Given the description of an element on the screen output the (x, y) to click on. 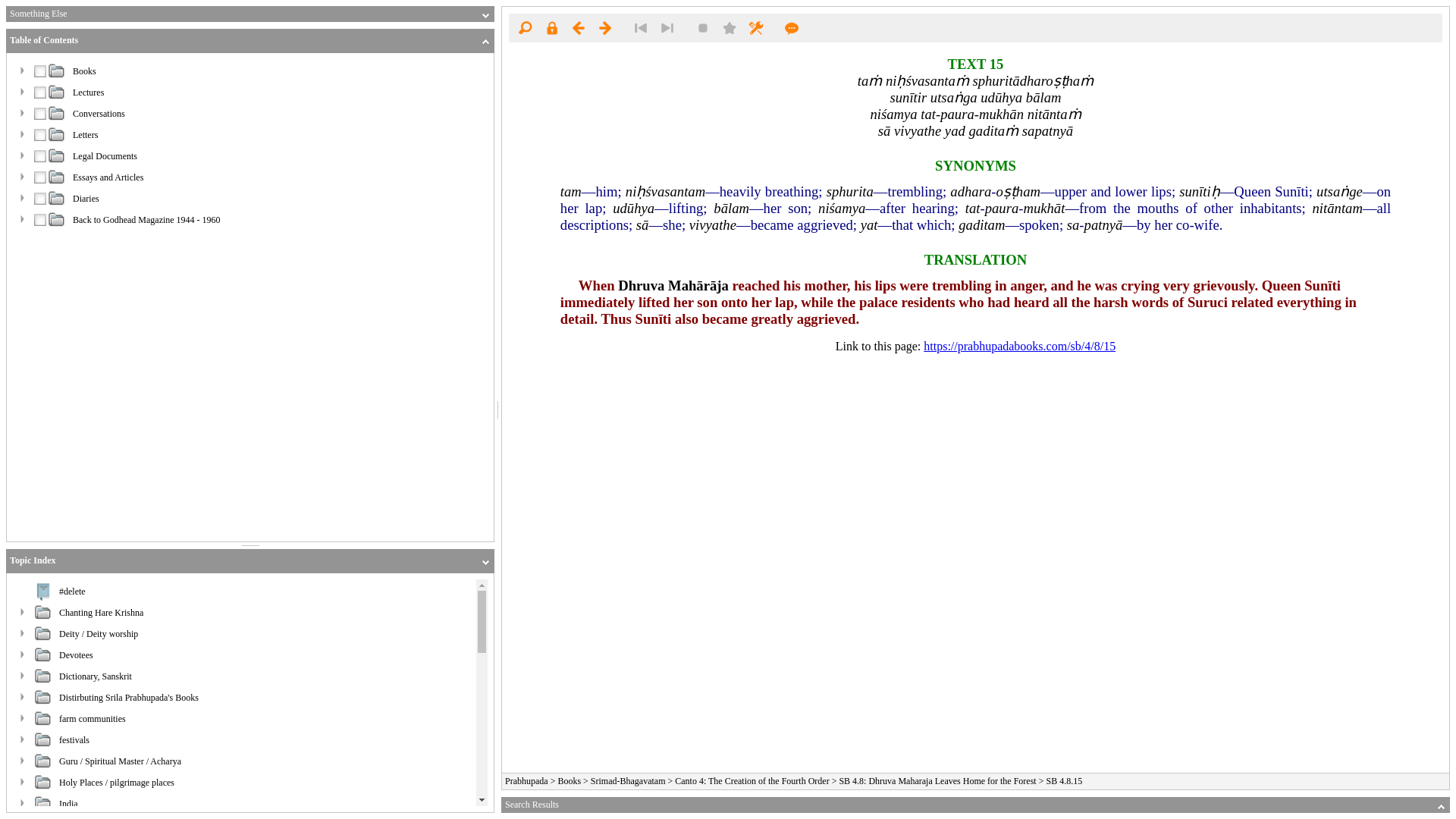
Login (551, 27)
Previous Search Hit (640, 27)
Next Search Hit (666, 27)
Next Document (604, 27)
Highlight Text (703, 27)
Previous Document (578, 27)
Bookmark (729, 27)
Help (791, 27)
Settings (755, 27)
Search (525, 27)
